Given the description of an element on the screen output the (x, y) to click on. 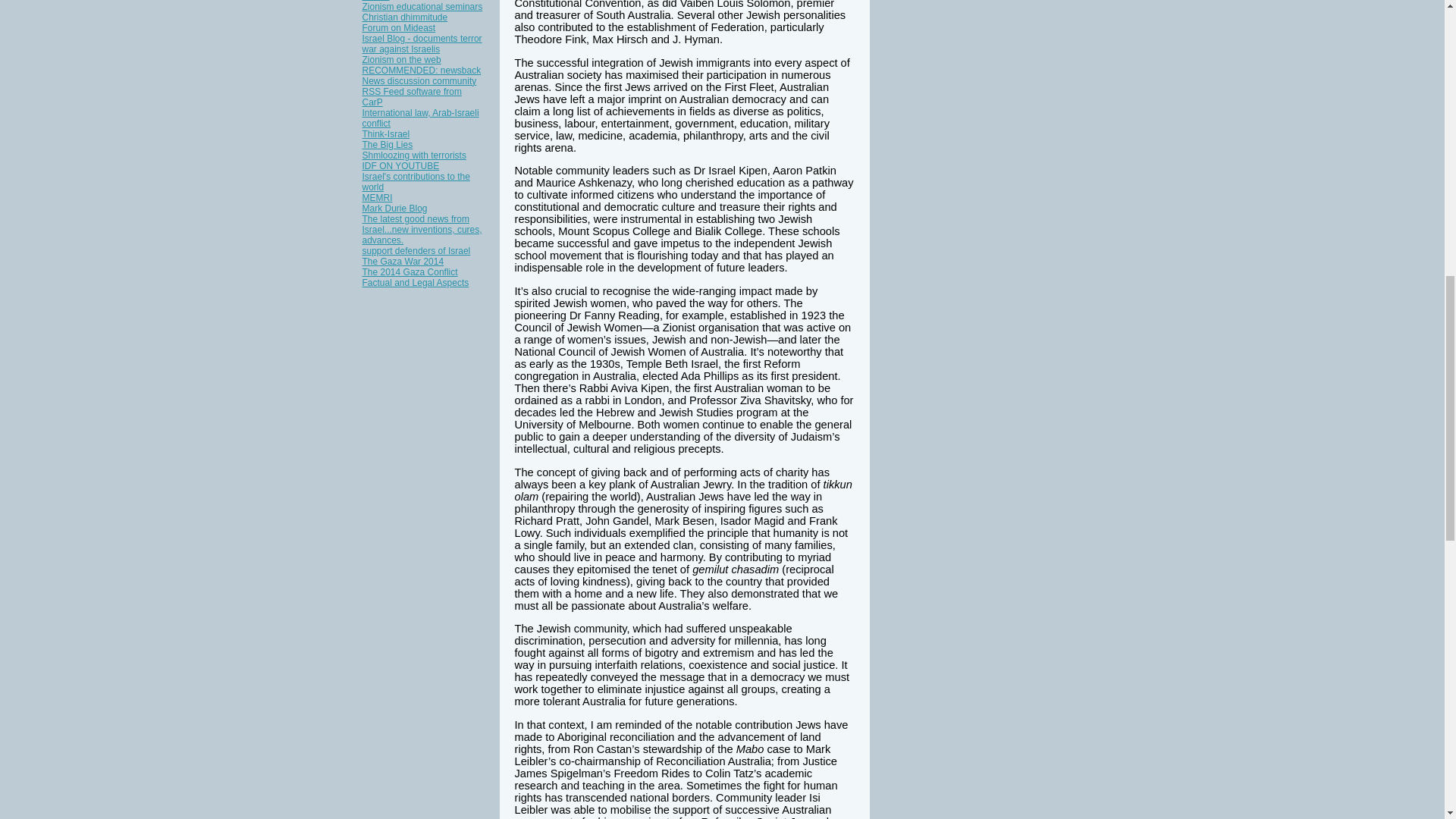
RECOMMENDED: newsback News discussion community (421, 75)
Israel Blog - documents terror war against Israelis (421, 43)
Zionism educational seminars (422, 6)
Think-Israel (386, 133)
The Big Lies (387, 144)
Christian dhimmitude (405, 17)
Shmloozing with terrorists (413, 154)
International law, Arab-Israeli conflict (420, 117)
Forum on Mideast (398, 27)
IDF ON YOUTUBE (400, 165)
Zionism on the web (401, 59)
RSS Feed software from CarP (411, 96)
